Given the description of an element on the screen output the (x, y) to click on. 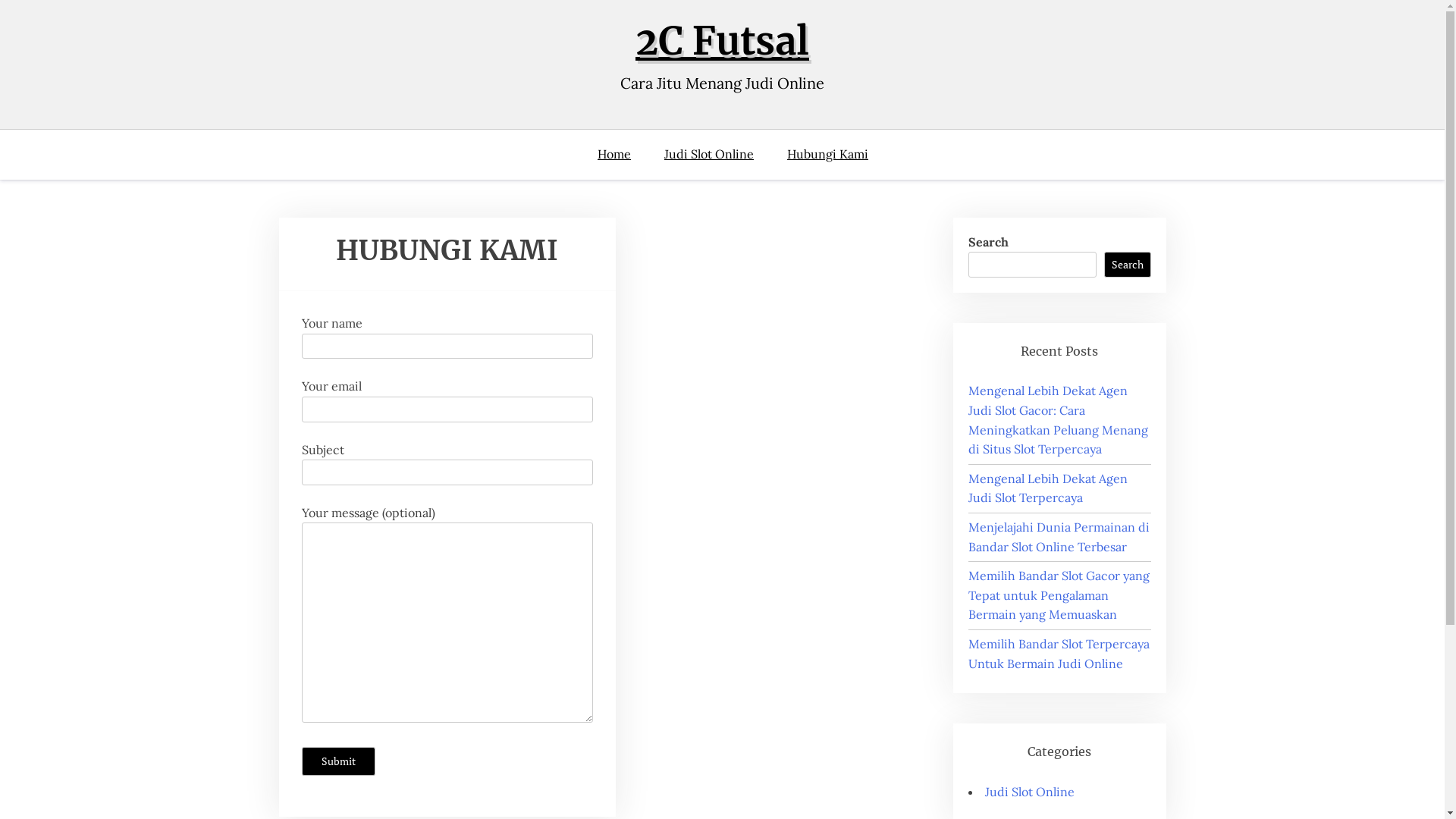
Memilih Bandar Slot Terpercaya Untuk Bermain Judi Online Element type: text (1058, 653)
Search Element type: text (1127, 264)
2C Futsal Element type: text (722, 41)
Mengenal Lebih Dekat Agen Judi Slot Terpercaya Element type: text (1047, 487)
Hubungi Kami Element type: text (827, 154)
Submit Element type: text (338, 760)
Menjelajahi Dunia Permainan di Bandar Slot Online Terbesar Element type: text (1058, 536)
Home Element type: text (621, 154)
Judi Slot Online Element type: text (708, 154)
Judi Slot Online Element type: text (1029, 791)
